Given the description of an element on the screen output the (x, y) to click on. 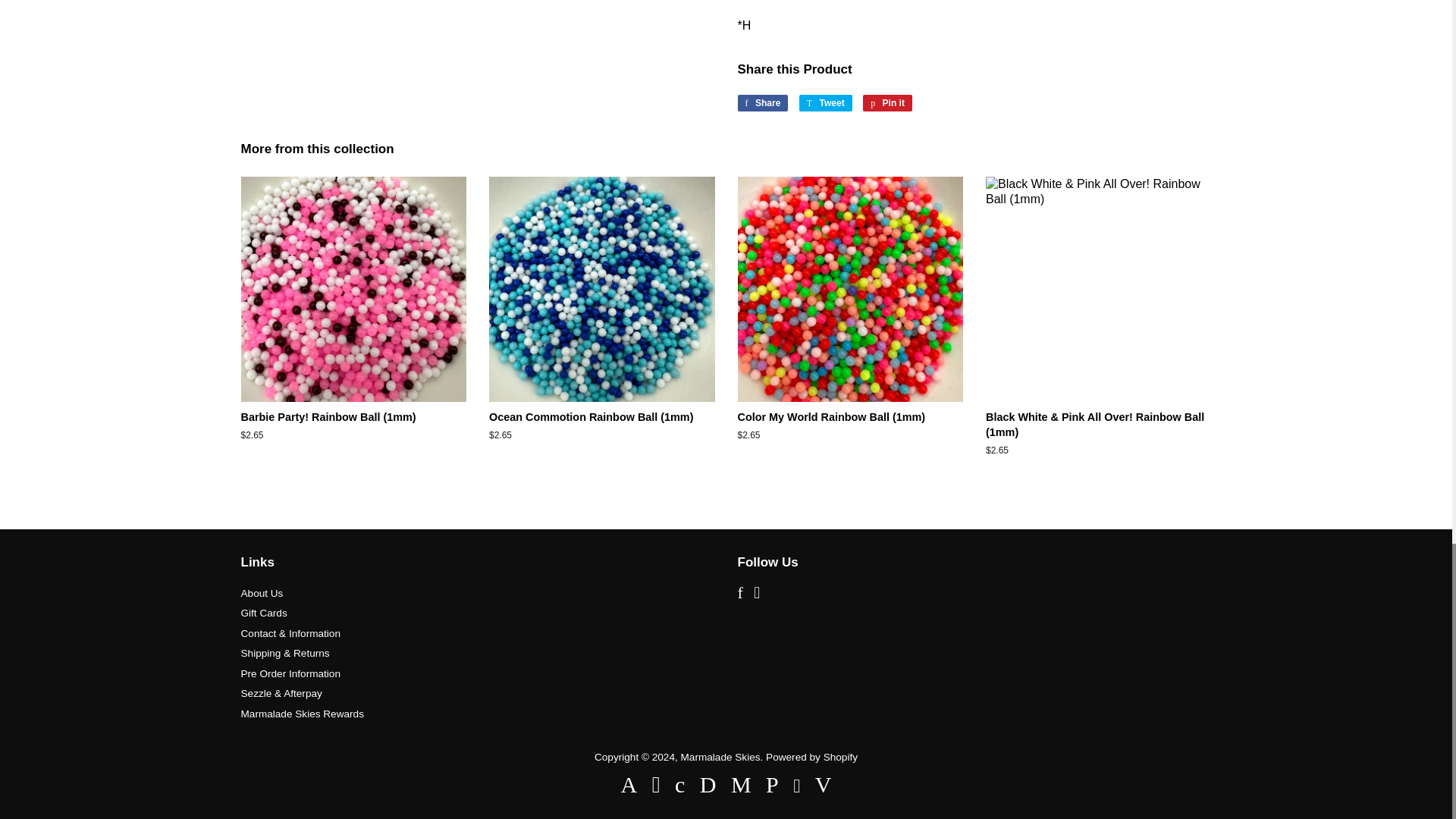
Tweet on Twitter (825, 103)
Share on Facebook (761, 103)
Pin on Pinterest (887, 103)
